Given the description of an element on the screen output the (x, y) to click on. 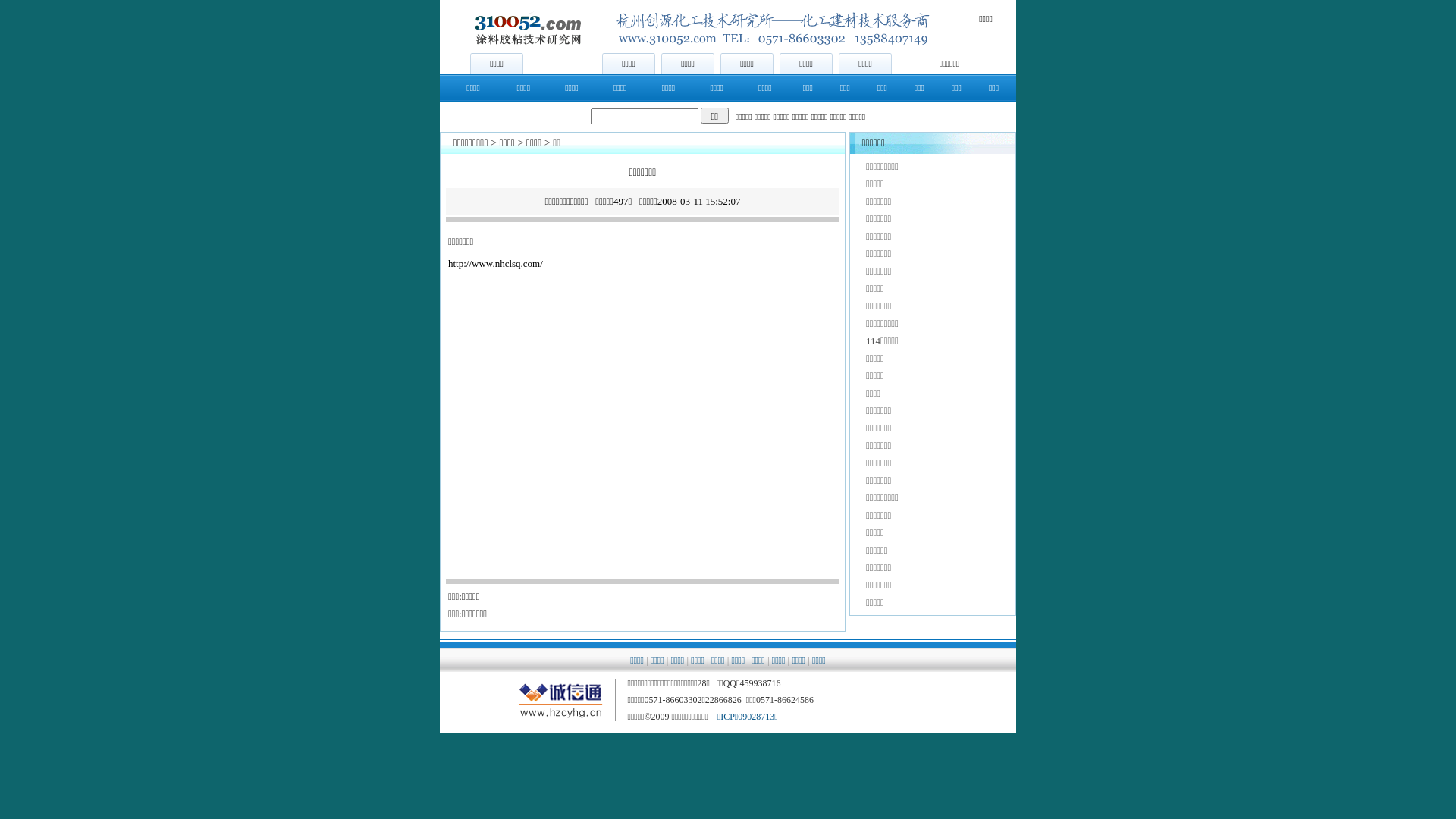
http://www.nhclsq.com/ Element type: text (495, 263)
